Given the description of an element on the screen output the (x, y) to click on. 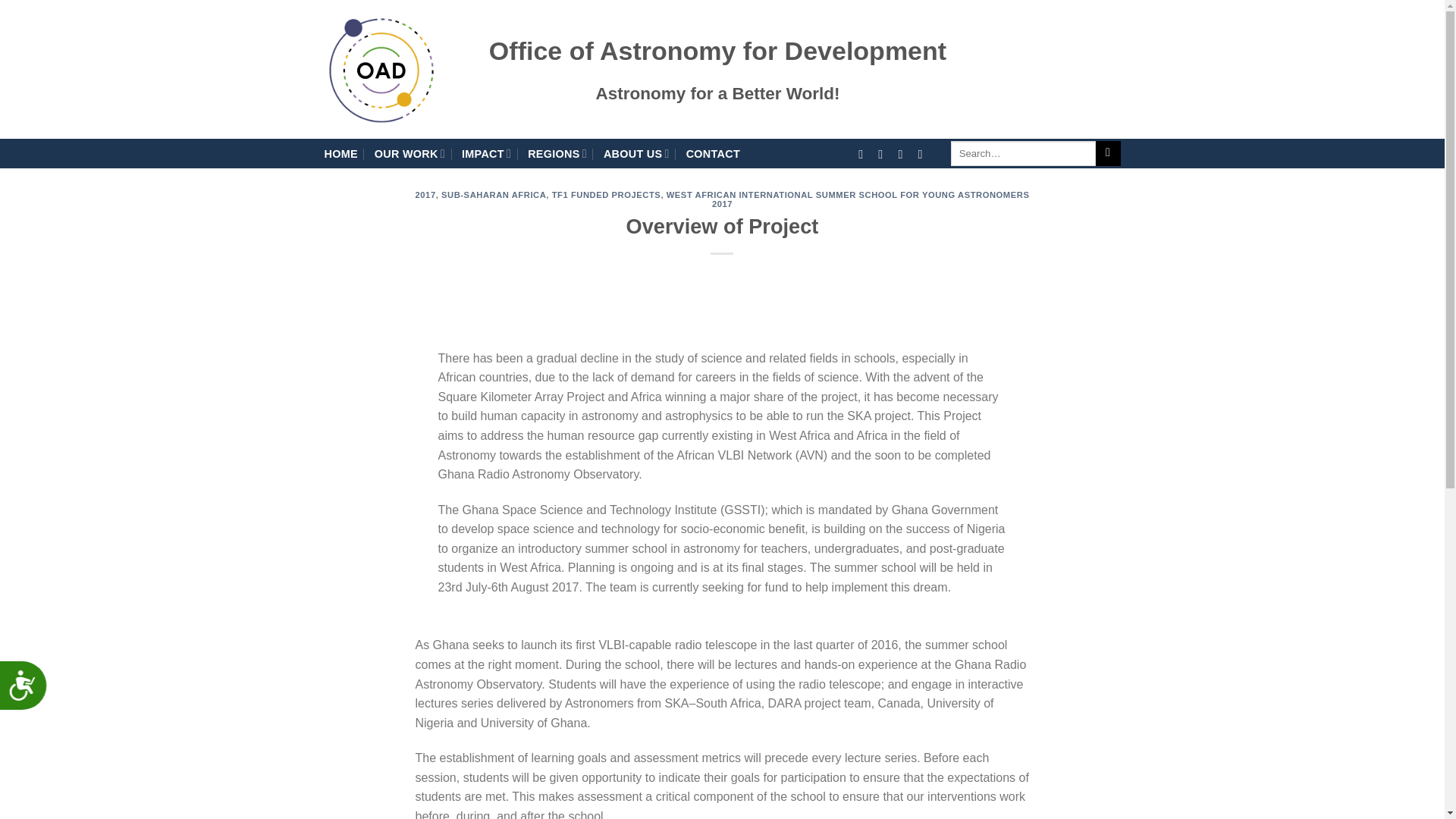
ABOUT US (636, 153)
CONTACT (712, 153)
REGIONS (556, 153)
HOME (341, 153)
ACCESSIBILITY (29, 690)
2017 (424, 194)
Follow on Facebook (864, 153)
